Given the description of an element on the screen output the (x, y) to click on. 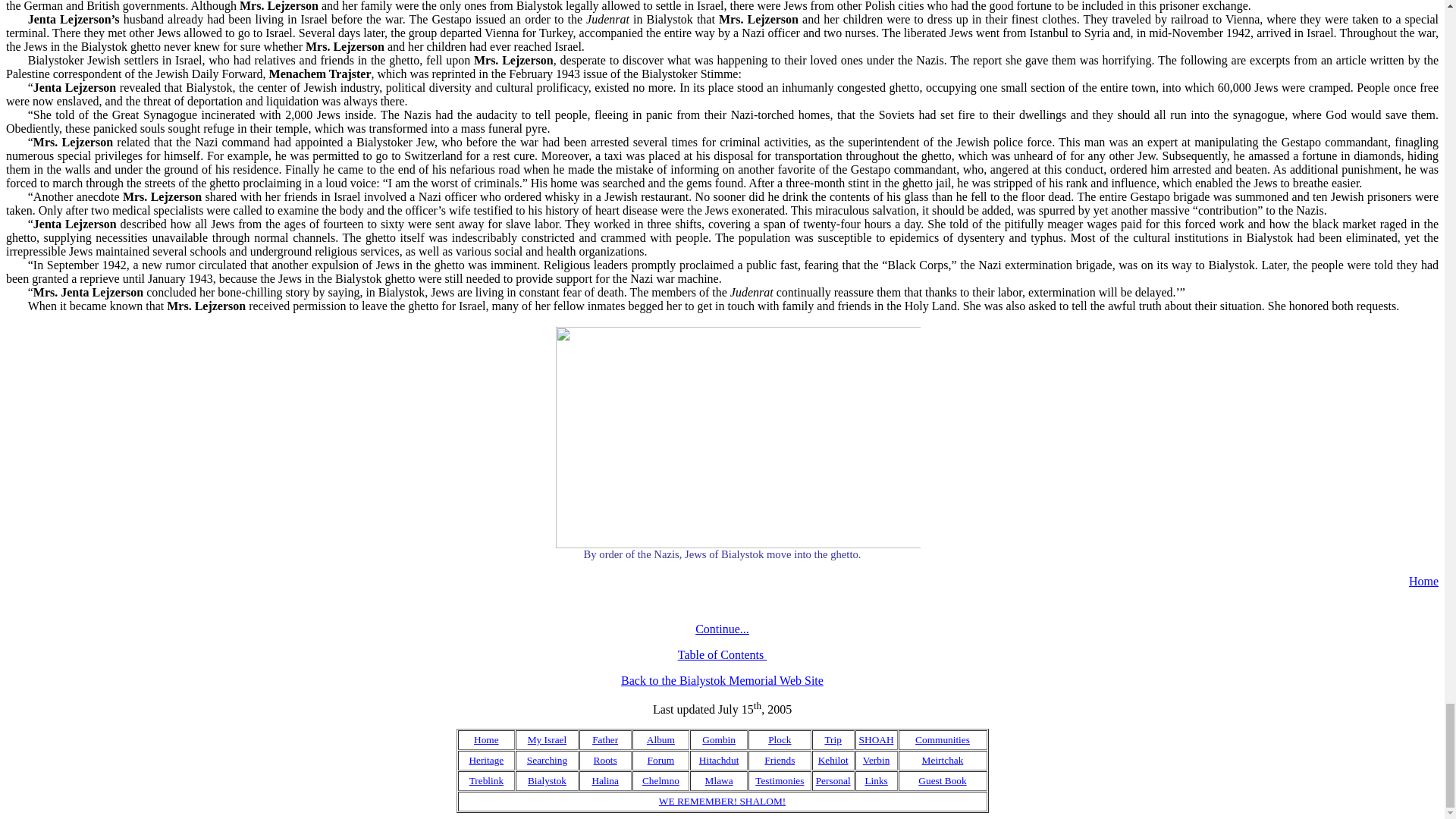
Trip (832, 739)
Kehilot (833, 759)
Plock (779, 739)
Friends (779, 759)
Back to the Bialystok Memorial Web Site (722, 680)
SHOAH (876, 739)
Gombin (718, 739)
Searching (547, 759)
Roots (605, 759)
Continue... (722, 628)
Home (1423, 581)
My Israel (546, 739)
Home (486, 739)
Father (604, 739)
Heritage (485, 759)
